Given the description of an element on the screen output the (x, y) to click on. 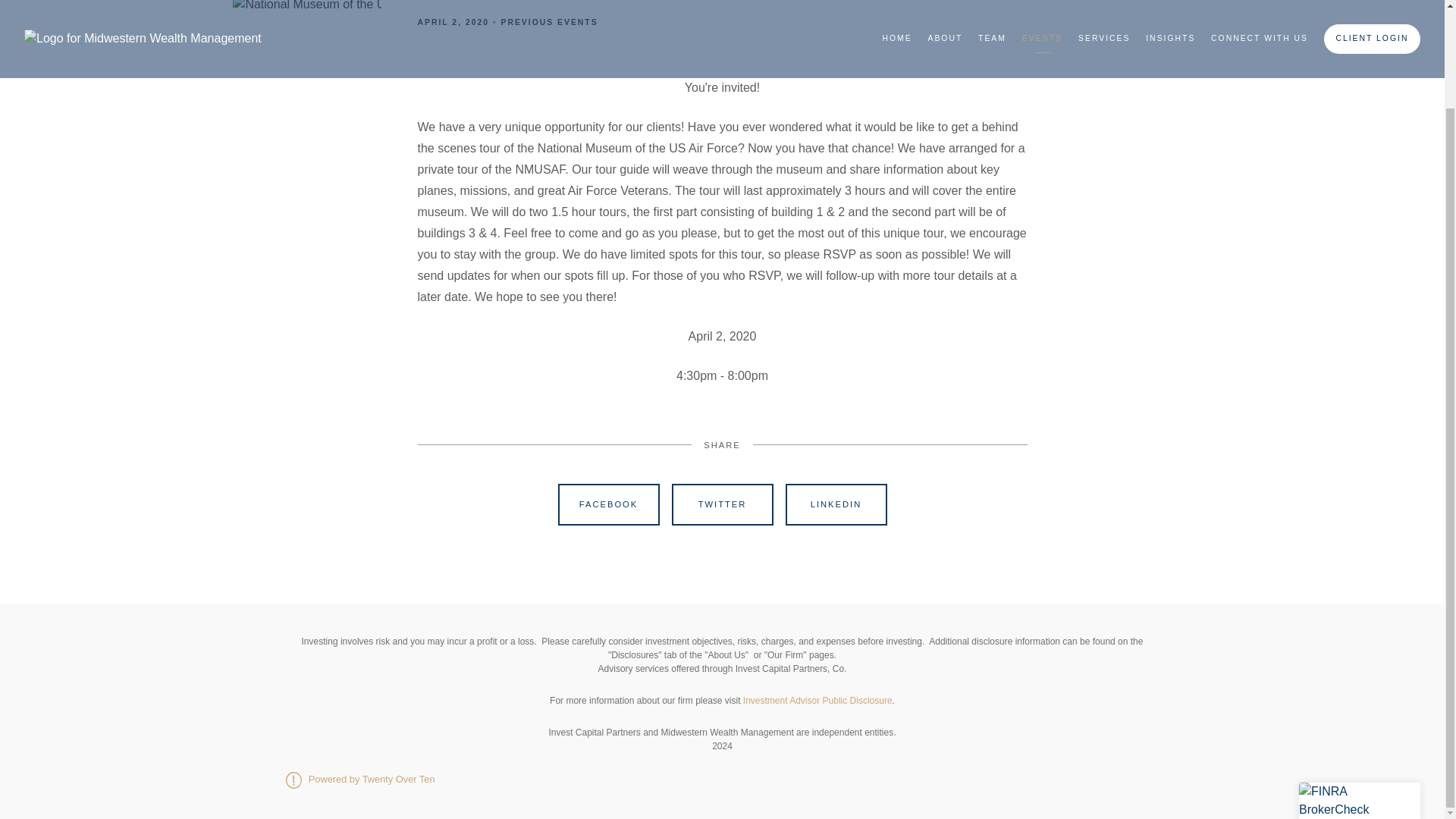
PREVIOUS EVENTS (548, 22)
LINKEDIN (836, 505)
TWITTER (722, 505)
FACEBOOK (608, 505)
Investment Advisor Public Disclosure (817, 700)
Powered by Twenty Over Ten (359, 778)
